Given the description of an element on the screen output the (x, y) to click on. 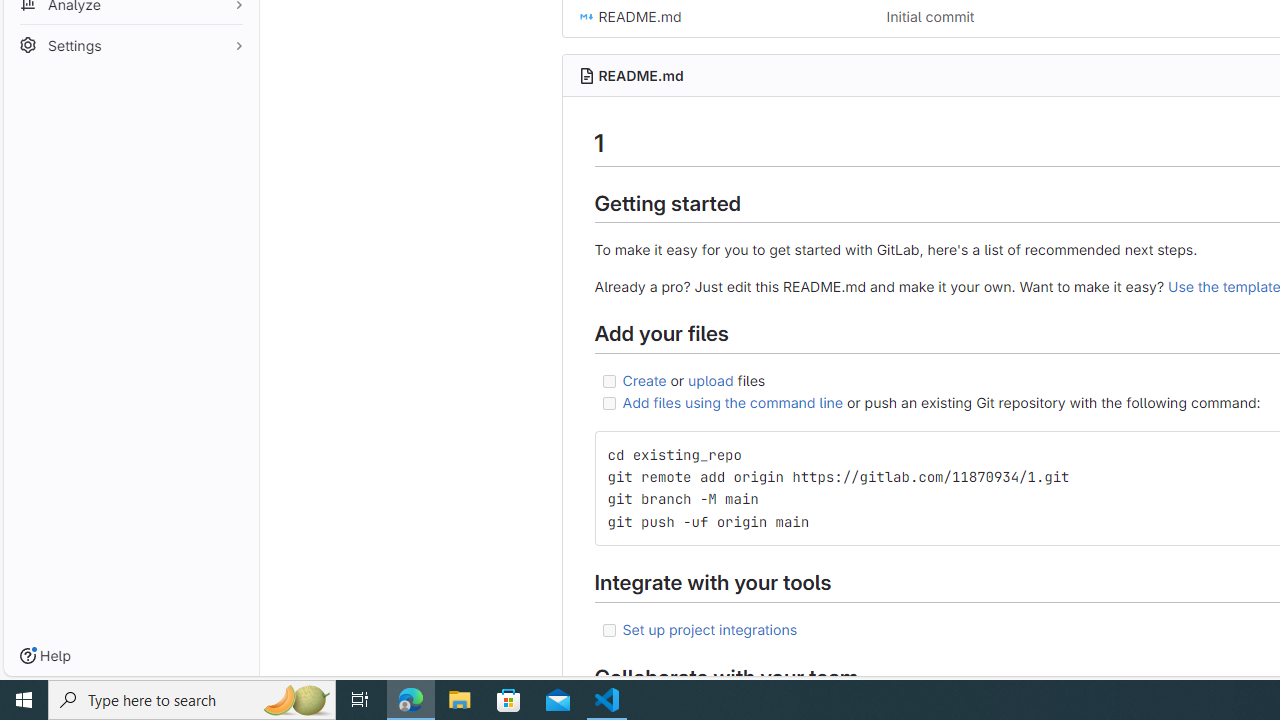
Create (644, 379)
Settings (130, 44)
Class: task-list-item-checkbox (608, 629)
Class: s16 position-relative file-icon (586, 16)
Initial commit (930, 16)
Settings (130, 42)
README.md (640, 75)
Set up project integrations (709, 628)
Add files using the command line (732, 402)
upload (710, 379)
Help (45, 655)
